Given the description of an element on the screen output the (x, y) to click on. 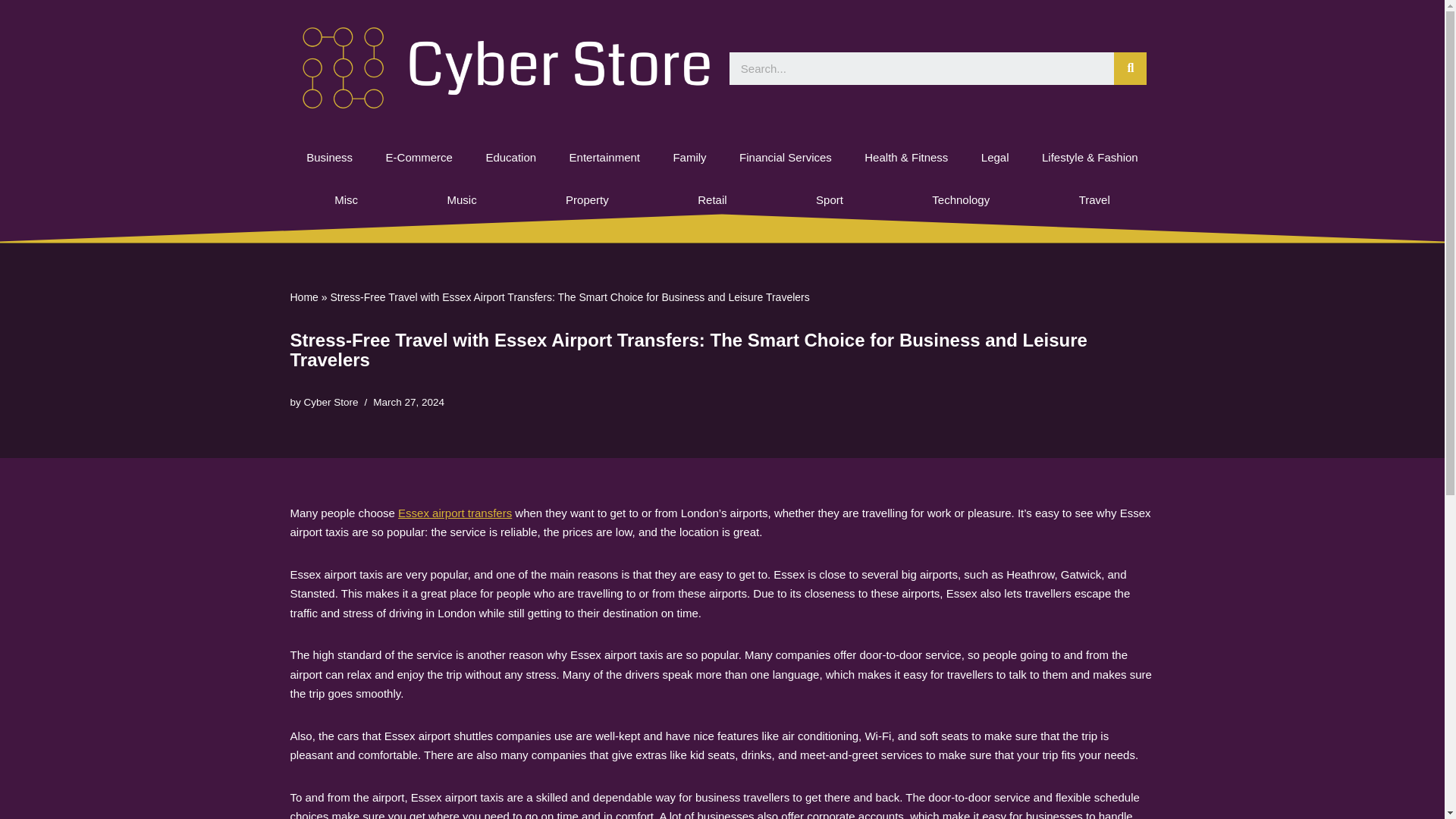
Home (303, 297)
Entertainment (604, 157)
Search (921, 67)
Education (510, 157)
Technology (960, 200)
Property (586, 200)
Skip to content (11, 31)
Essex airport transfers (454, 512)
Posts by Cyber Store (331, 401)
Music (462, 200)
Legal (994, 157)
Sport (828, 200)
Business (328, 157)
E-Commerce (418, 157)
Retail (712, 200)
